Given the description of an element on the screen output the (x, y) to click on. 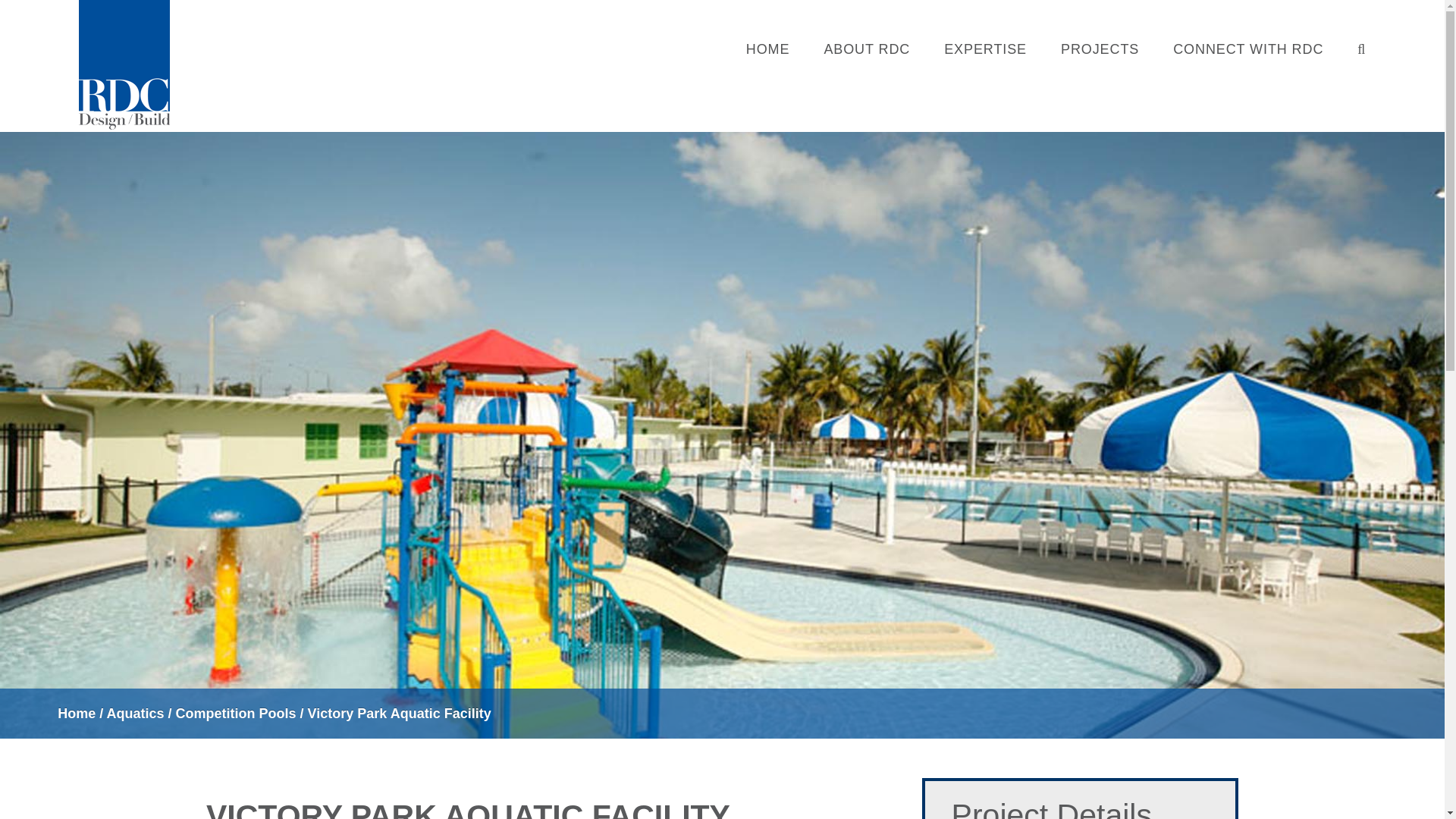
CONNECT WITH RDC (1248, 49)
